Given the description of an element on the screen output the (x, y) to click on. 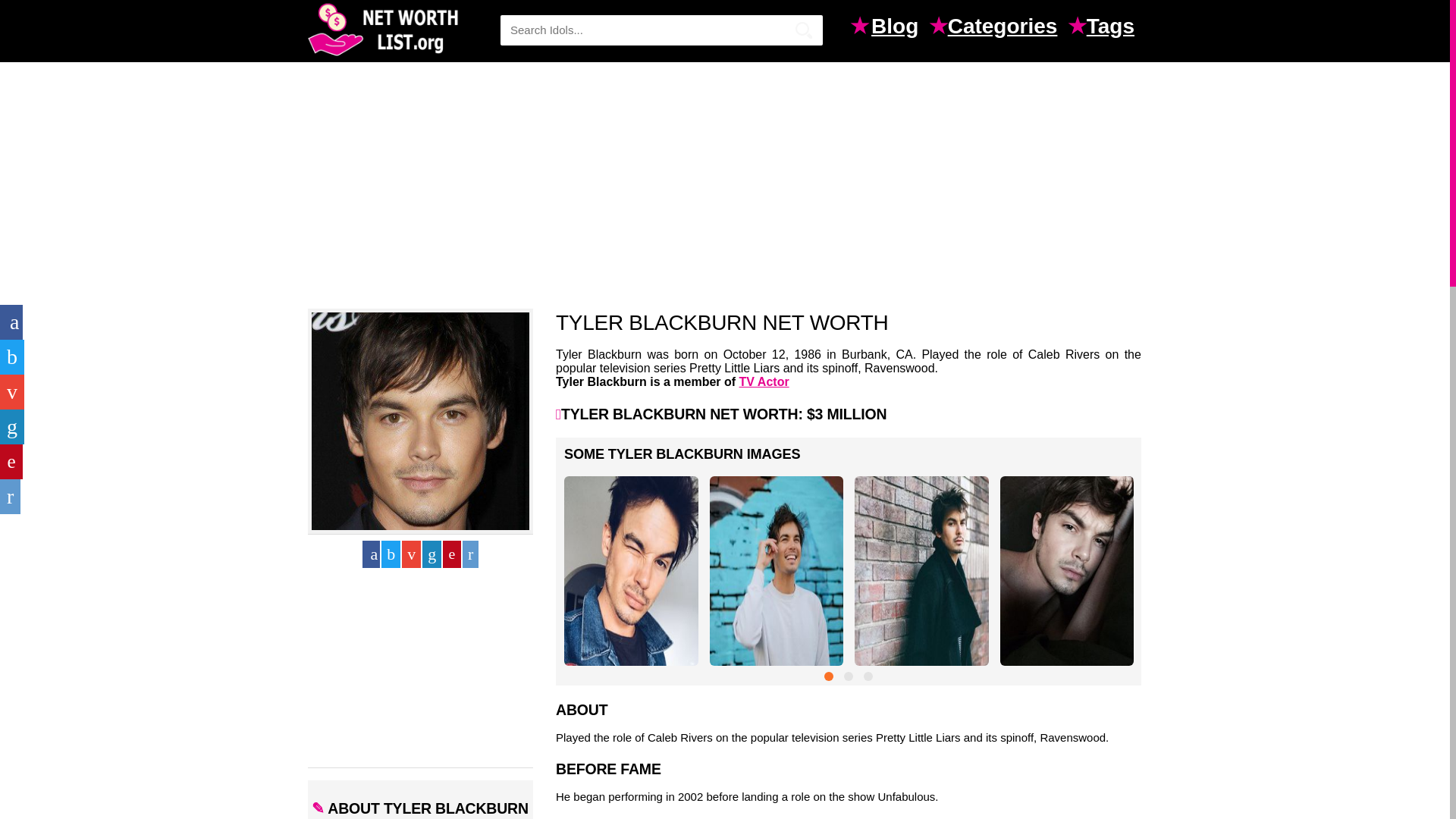
Tags (1113, 28)
Blog (898, 28)
Categories (1006, 28)
Tags (1113, 28)
Tyler Blackburn (420, 420)
Advertisement (421, 669)
SEARCH (803, 30)
